Given the description of an element on the screen output the (x, y) to click on. 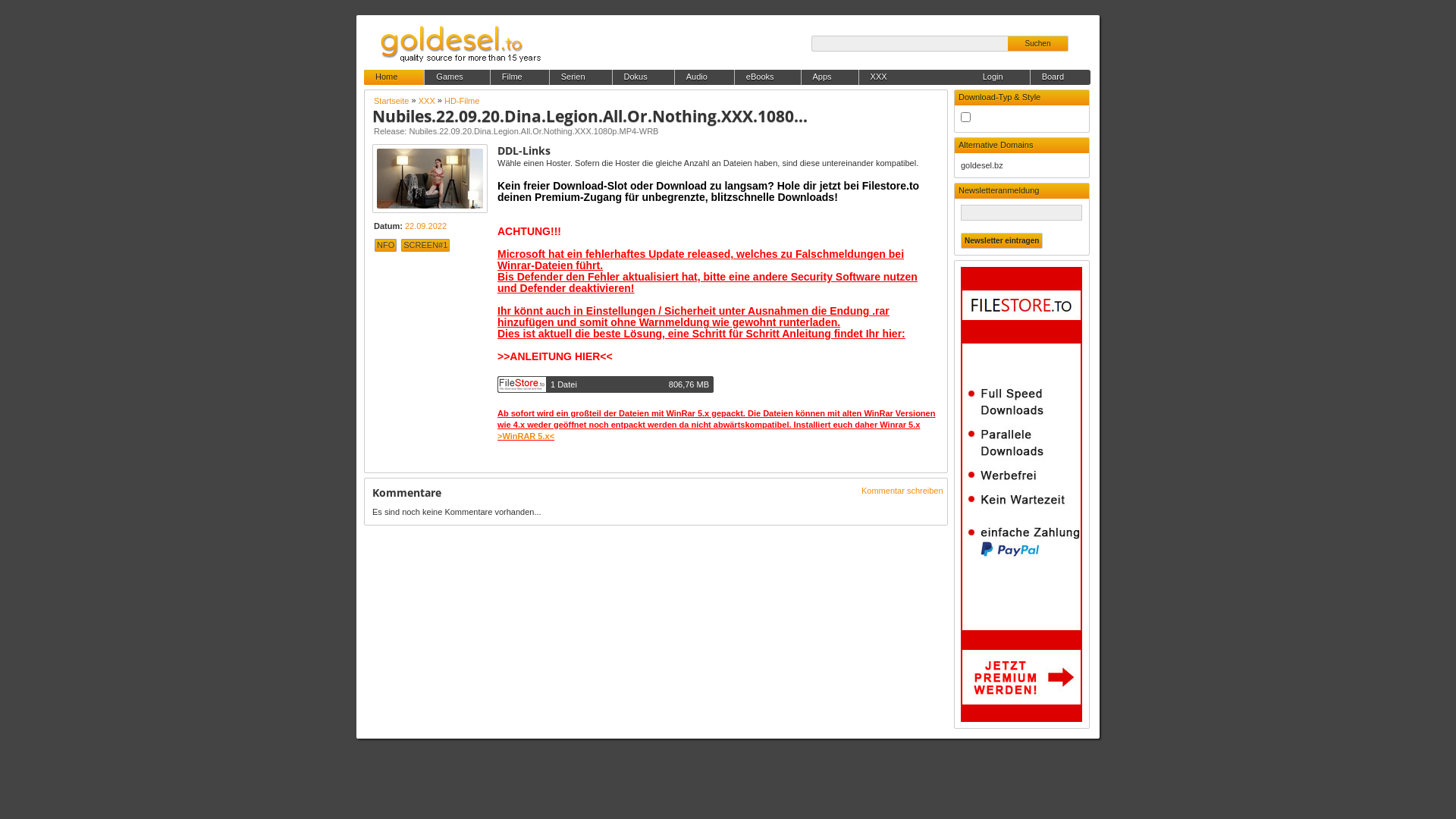
Startseite Element type: text (390, 100)
goldesel.bz Element type: text (981, 164)
22.09.2022 Element type: text (425, 225)
>WinRAR 5.x< Element type: text (525, 435)
>>ANLEITUNG HIER<< Element type: text (554, 356)
HD-Filme Element type: text (461, 100)
Suchen Element type: text (1037, 43)
XXX Element type: text (426, 100)
Kommentar schreiben Element type: text (902, 490)
Newsletter eintragen Element type: text (1001, 240)
